Given the description of an element on the screen output the (x, y) to click on. 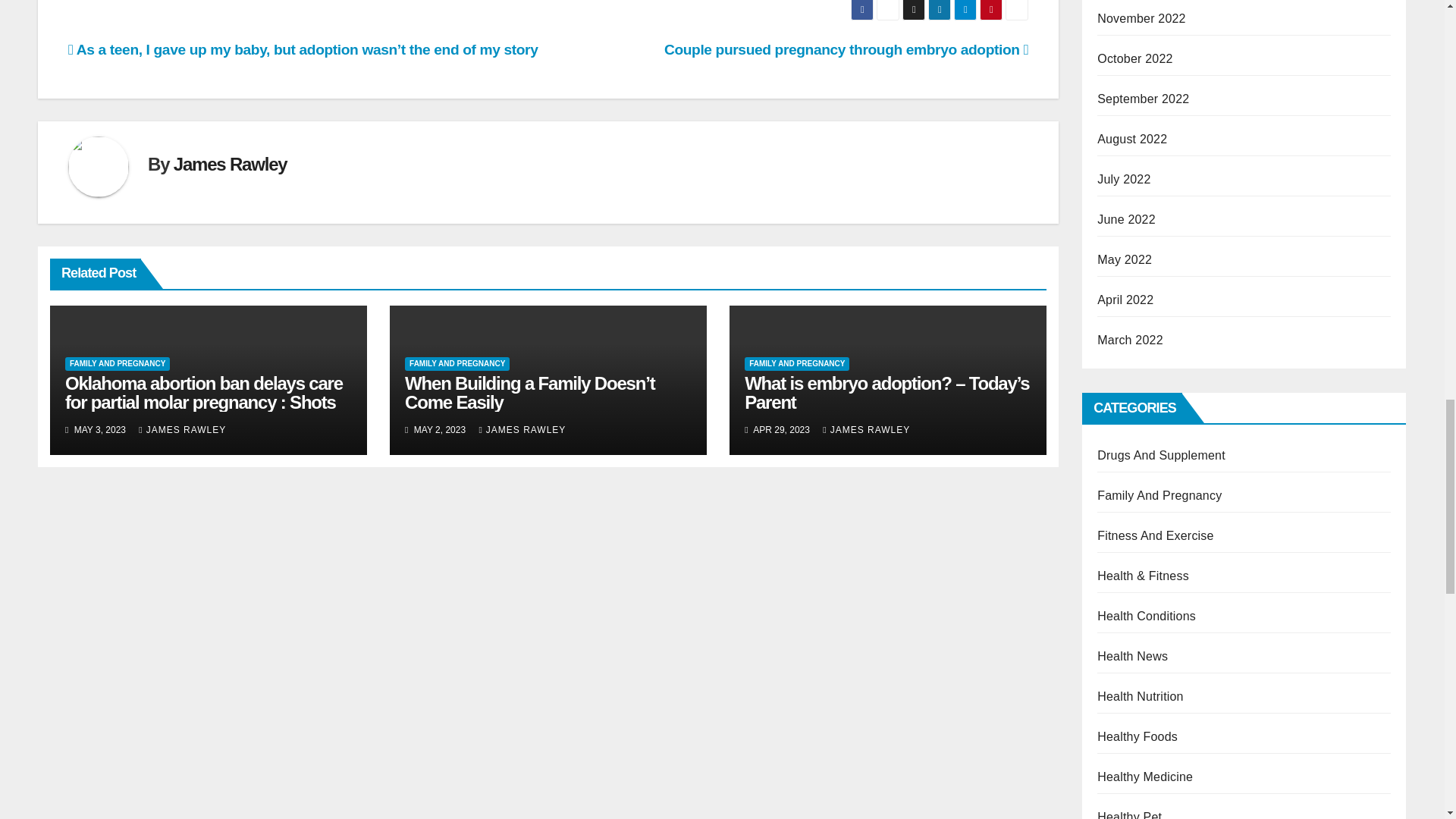
Couple pursued pregnancy through embryo adoption (845, 49)
